Given the description of an element on the screen output the (x, y) to click on. 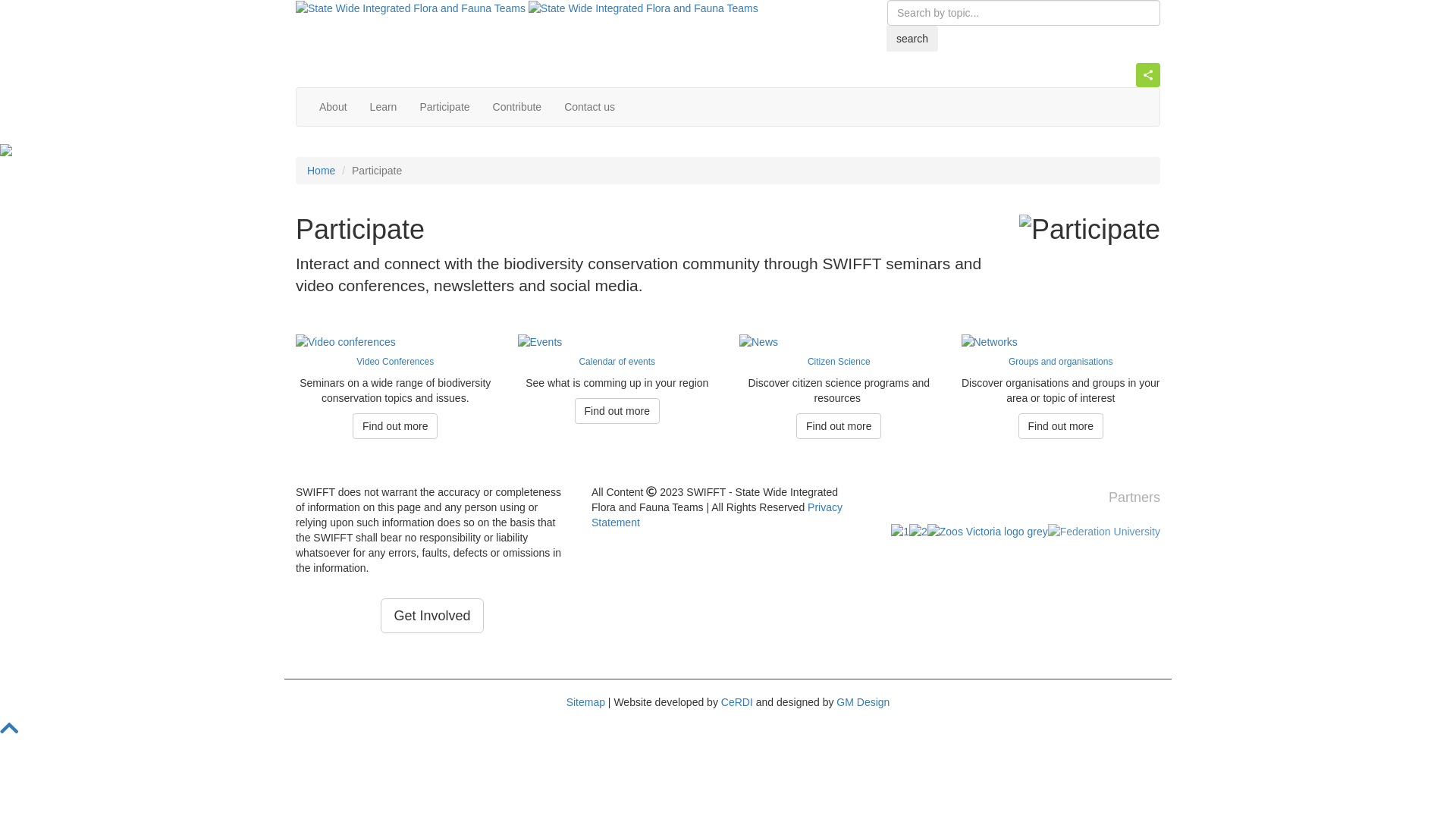
Calendar of events Element type: text (616, 361)
Groups and organisations Element type: text (1060, 361)
CeRDI Element type: text (737, 702)
Back to Top Element type: text (9, 731)
Find out more Element type: text (838, 426)
Find out more Element type: text (394, 426)
search Element type: text (912, 38)
ShareThis Element type: hover (1023, 74)
Contribute Element type: text (517, 106)
Participate Element type: text (443, 106)
Contact us Element type: text (589, 106)
Video Conferences Element type: text (394, 361)
Learn Element type: text (383, 106)
Home Element type: text (321, 170)
Privacy Statement Element type: text (716, 514)
Find out more Element type: text (1060, 426)
Sitemap Element type: text (585, 702)
Find out more Element type: text (616, 410)
GM Design Element type: text (862, 702)
Citizen Science Element type: text (838, 361)
Get Involved Element type: text (431, 615)
About Element type: text (332, 106)
